Given the description of an element on the screen output the (x, y) to click on. 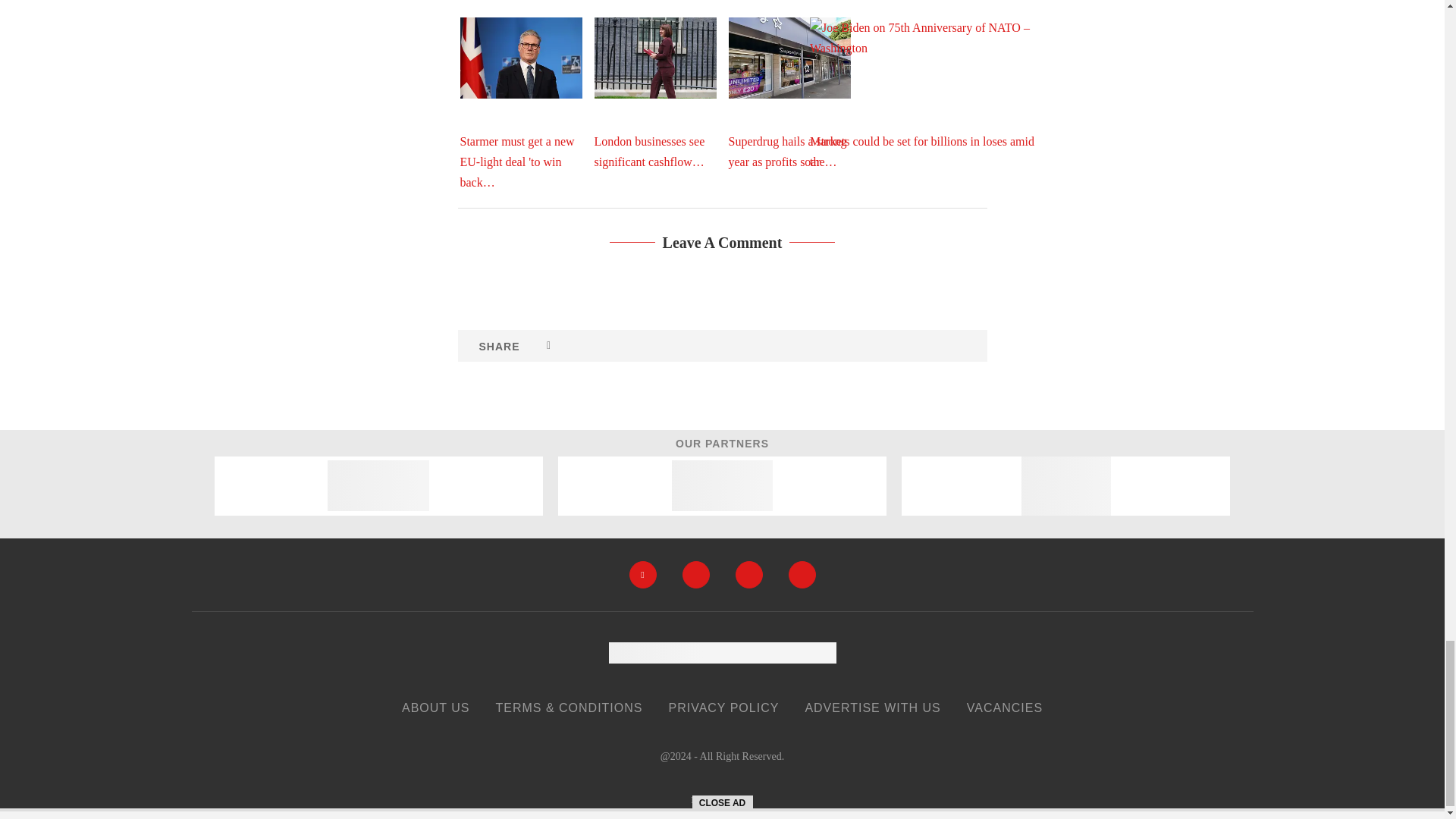
Superdrug hails a strong year as profits soar (789, 57)
